Given the description of an element on the screen output the (x, y) to click on. 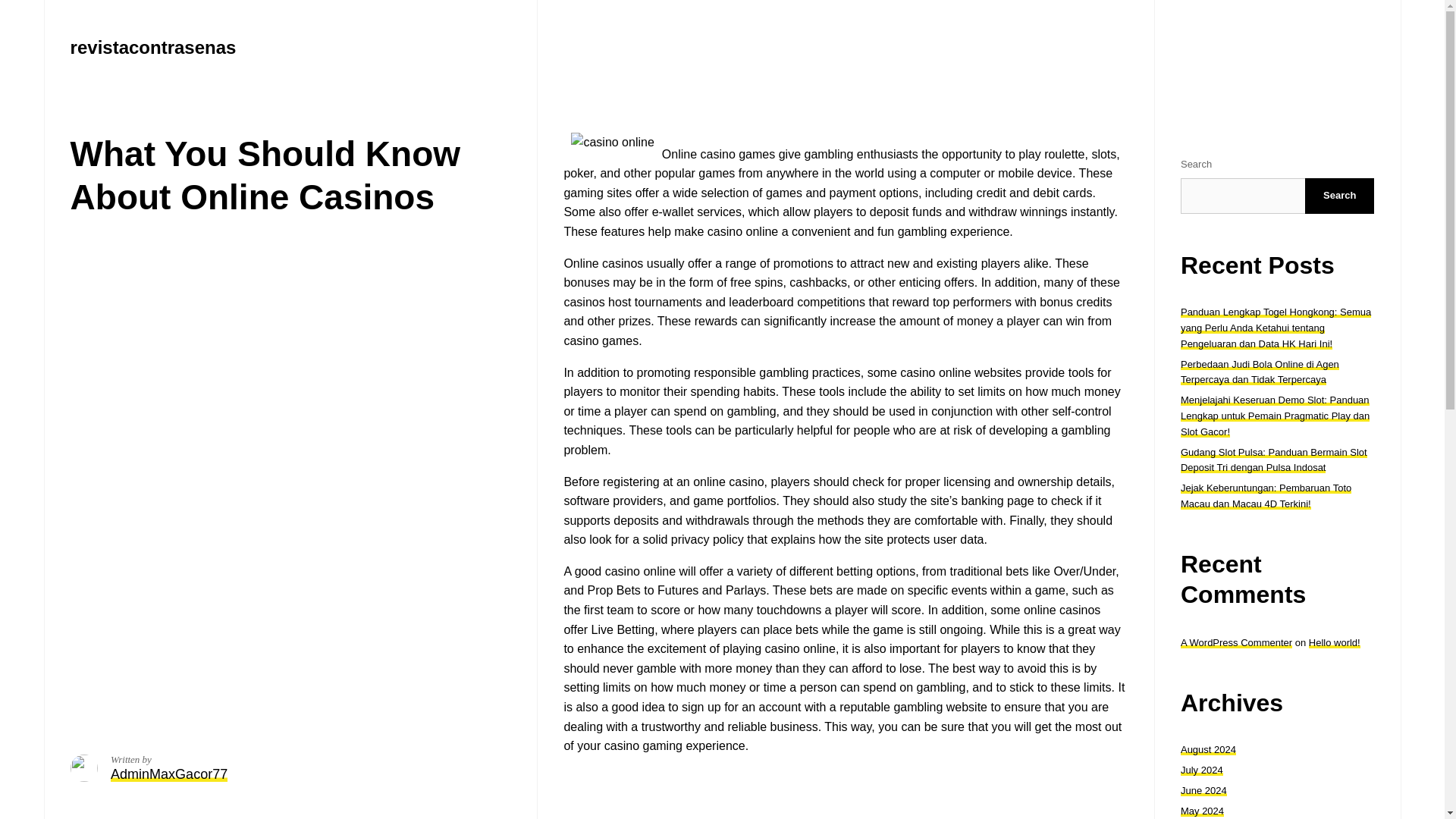
AdminMaxGacor77 (168, 773)
Search (1339, 195)
August 2024 (1208, 749)
revistacontrasenas (152, 47)
May 2024 (1202, 810)
Hello world! (1333, 642)
June 2024 (1203, 790)
July 2024 (1201, 769)
A WordPress Commenter (1236, 642)
